Given the description of an element on the screen output the (x, y) to click on. 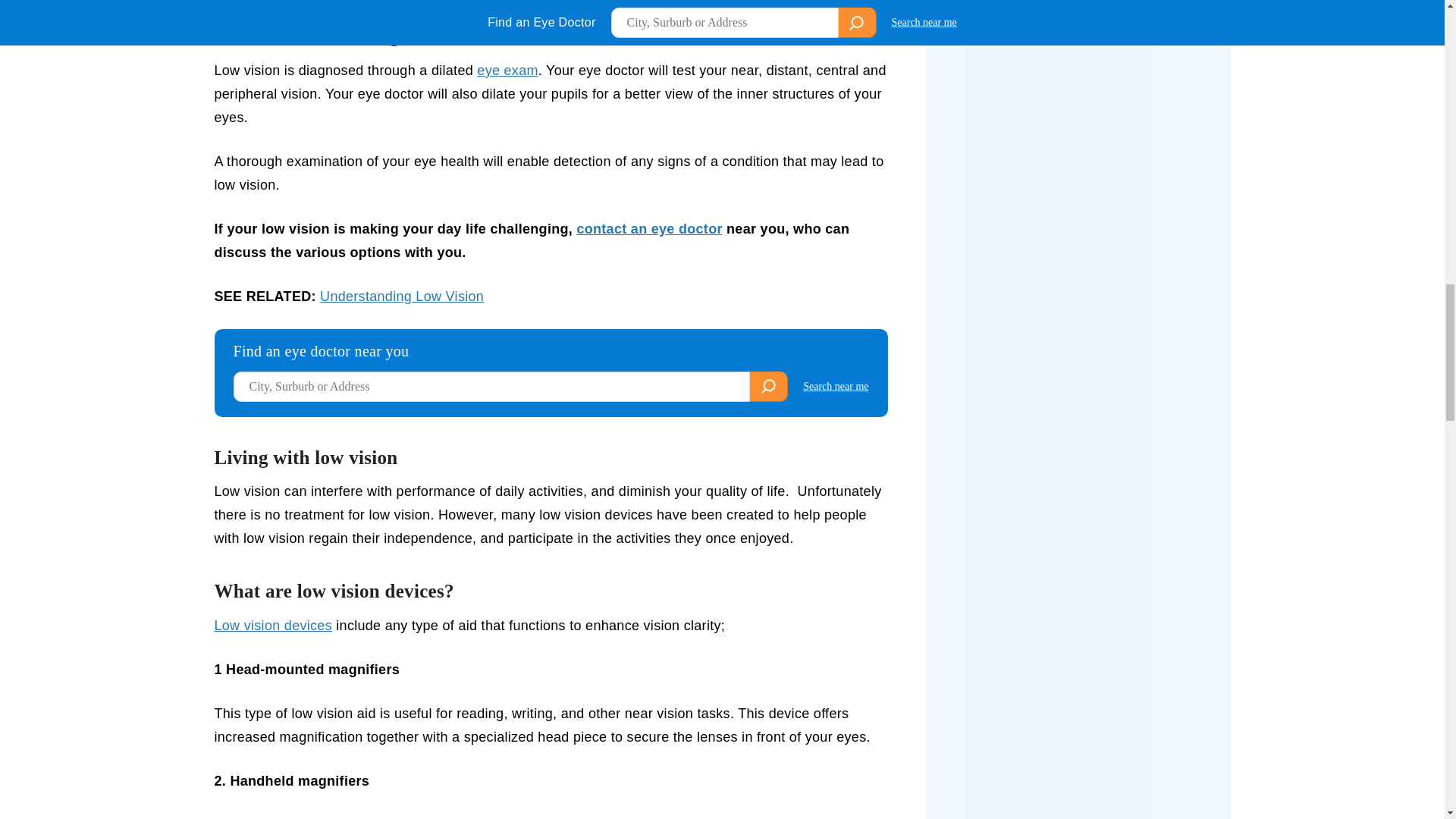
Search near me (835, 386)
contact an eye doctor (649, 228)
Understanding Low Vision (401, 296)
eye exam (507, 70)
Low vision devices (272, 625)
